Given the description of an element on the screen output the (x, y) to click on. 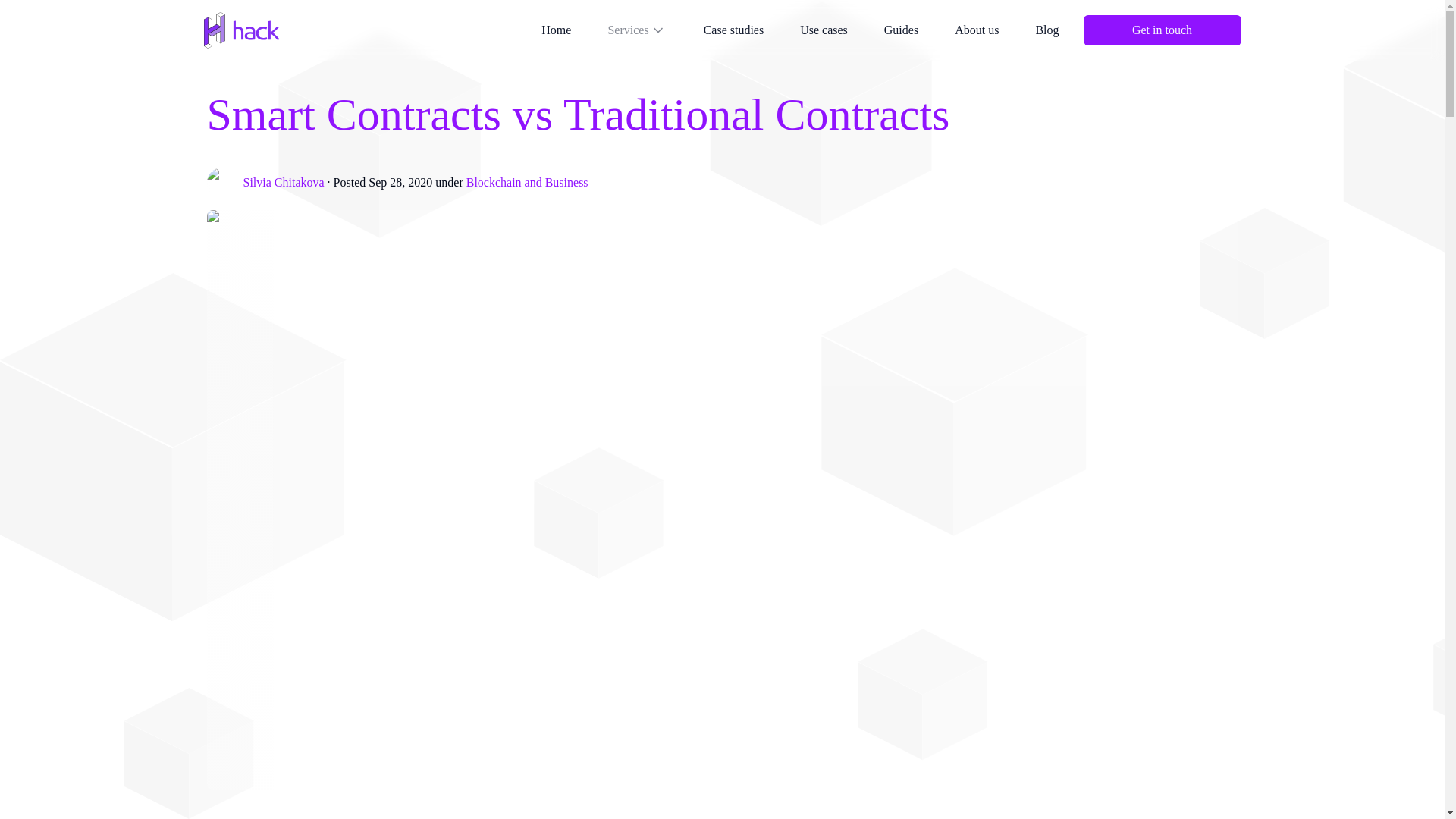
Get in touch (1161, 30)
Guides (901, 30)
Case studies (733, 30)
Services (636, 30)
hack (241, 30)
Silvia Chitakova (283, 182)
About us (976, 30)
Blockchain and Business (526, 182)
Use cases (823, 30)
Home (556, 30)
Blog (1046, 30)
